Given the description of an element on the screen output the (x, y) to click on. 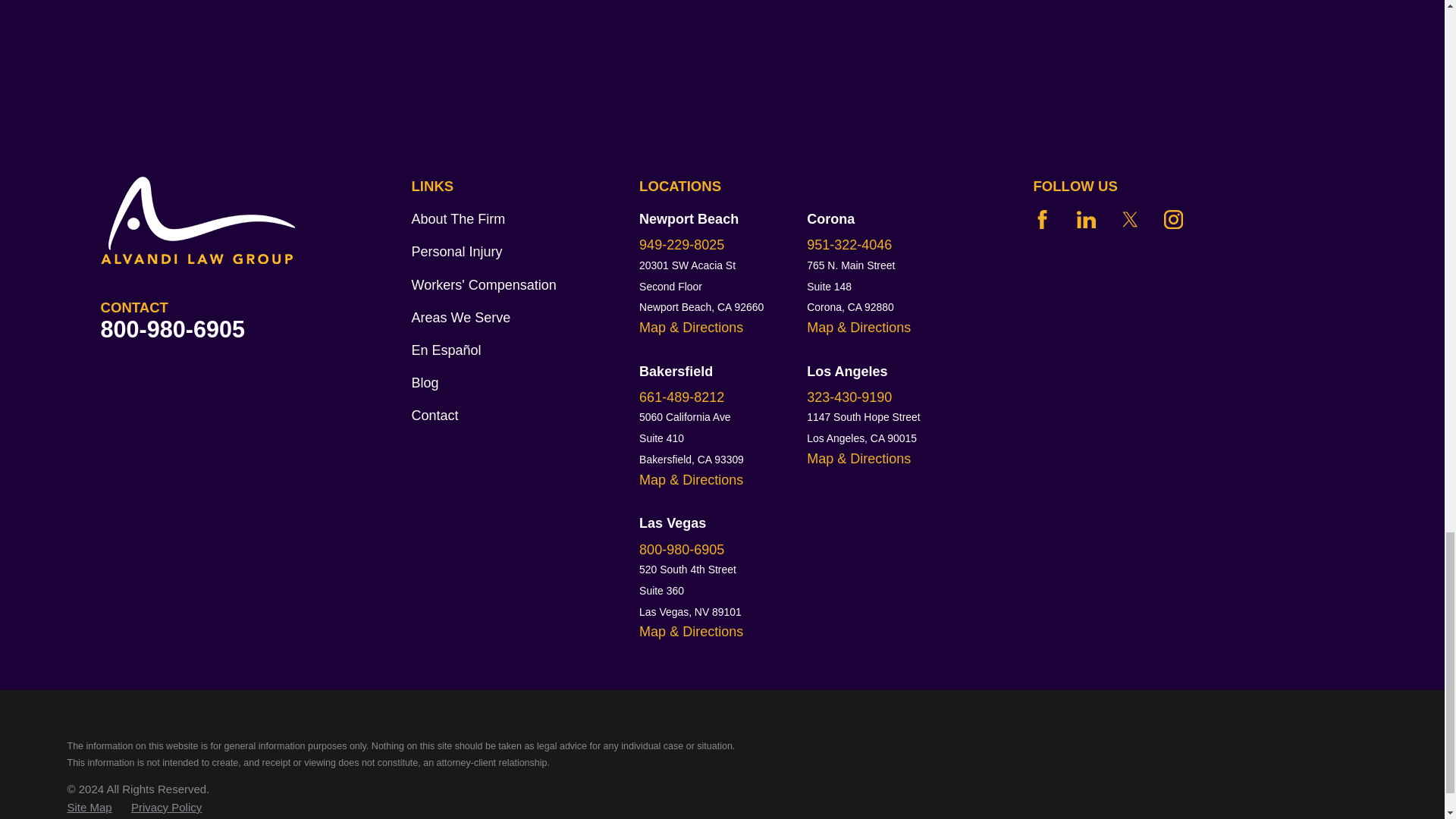
LinkedIn (1086, 219)
Instagram (1172, 219)
Twitter (1130, 219)
Facebook (1041, 219)
Home (233, 219)
